Given the description of an element on the screen output the (x, y) to click on. 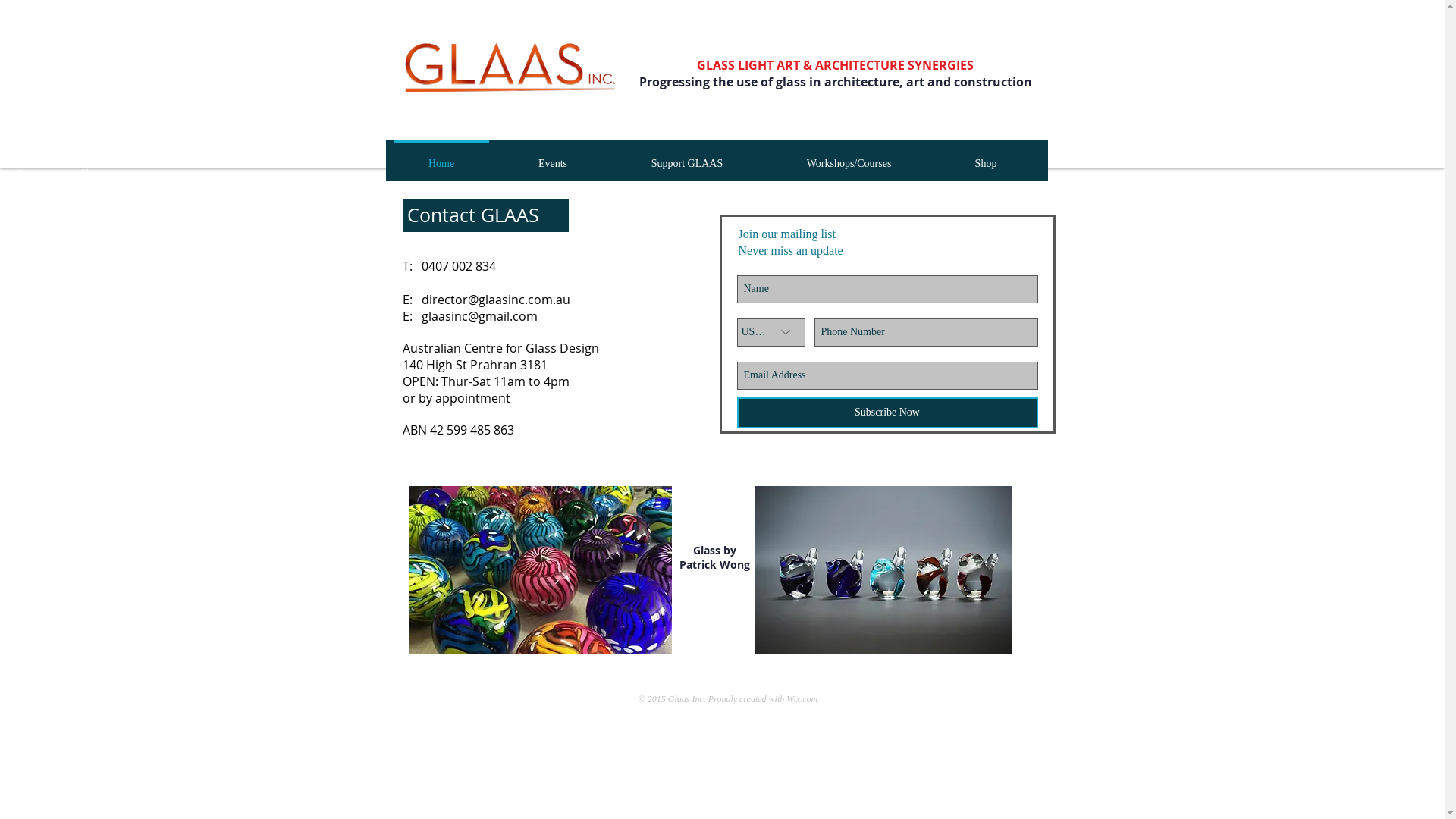
Home Element type: text (441, 156)
Support GLAAS Element type: text (687, 156)
glaasinc@gmail.com Element type: text (479, 315)
Shop Element type: text (985, 156)
Subscribe Now Element type: text (887, 412)
Wix.com Element type: text (801, 698)
Workshops/Courses Element type: text (848, 156)
director@glaasinc.com.au Element type: text (495, 299)
Shop Element type: text (92, 172)
Events Element type: text (551, 156)
